Given the description of an element on the screen output the (x, y) to click on. 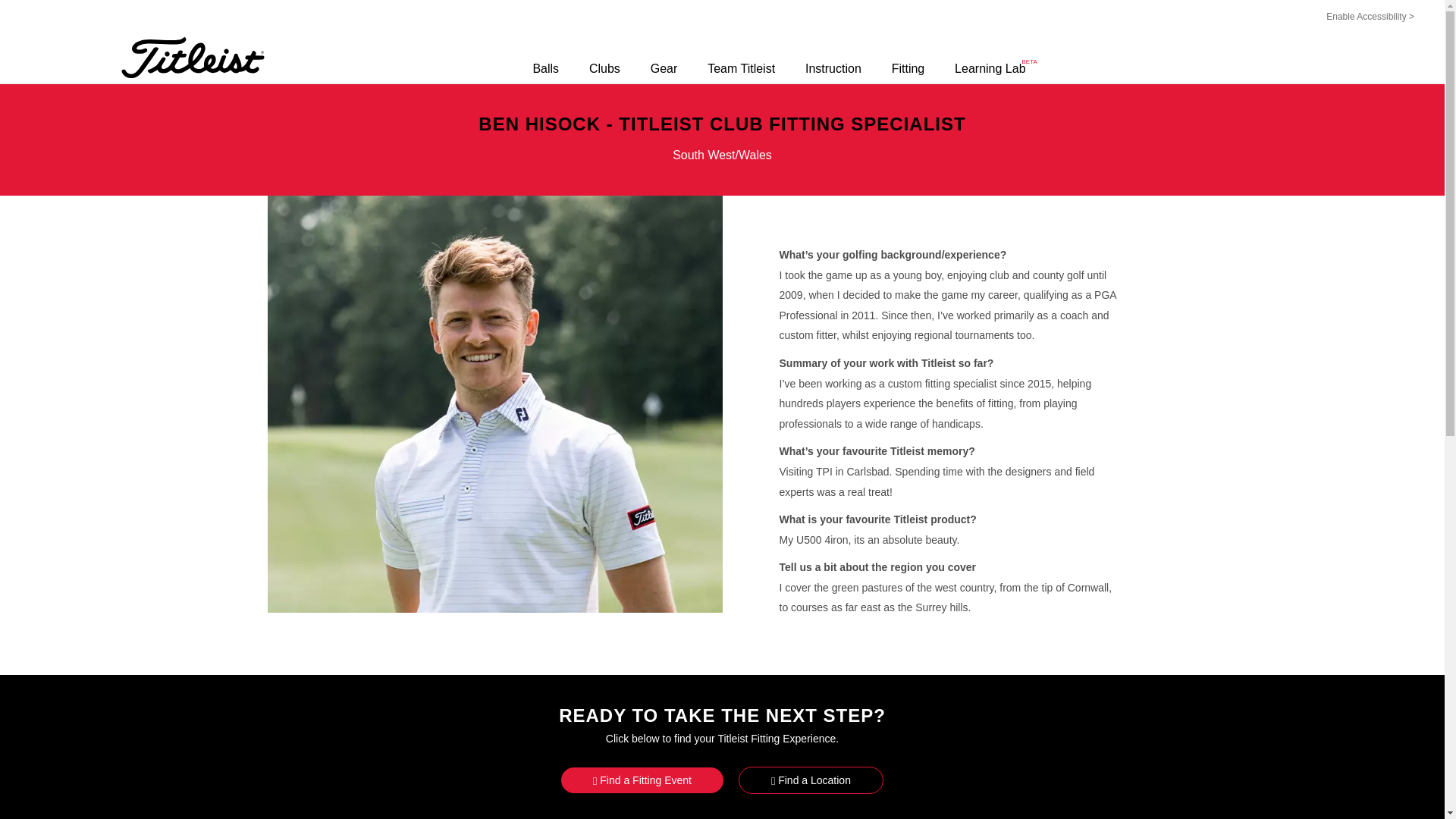
Gear (664, 69)
My Cart (1399, 66)
MY ACCOUNT (1361, 66)
Team Titleist (740, 69)
MY CART (1399, 66)
Clubs (604, 69)
Fitting (907, 69)
Instruction (833, 69)
Balls (990, 69)
